Given the description of an element on the screen output the (x, y) to click on. 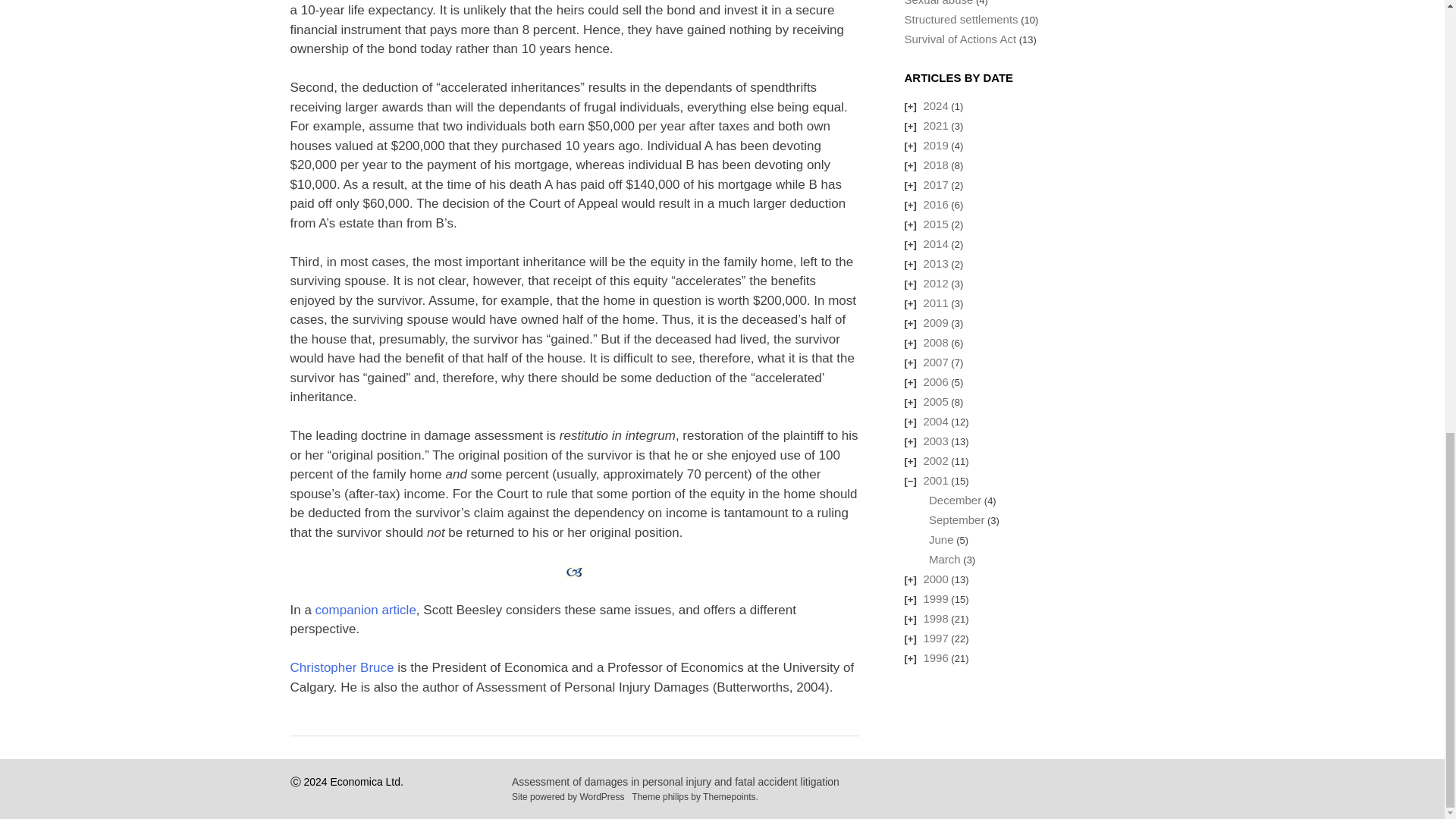
companion article (365, 609)
Information about Christopher Bruce (341, 667)
Christopher Bruce (341, 667)
